Given the description of an element on the screen output the (x, y) to click on. 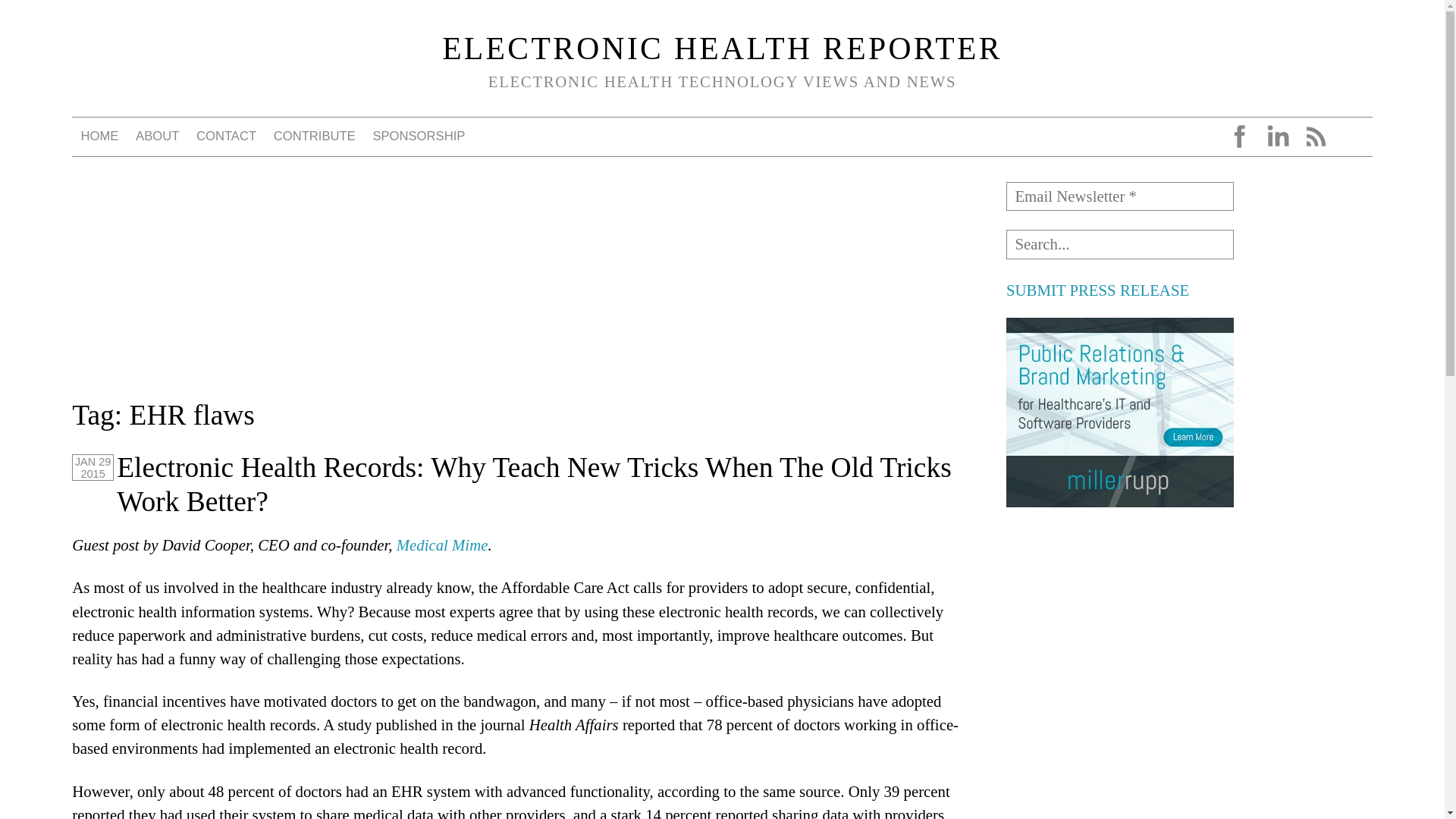
FACEBOOK (1239, 136)
LINKEDIN (1277, 136)
Advertisement (1119, 624)
Email Newsletter (1119, 195)
Subscribe (48, 16)
Medical Mime (441, 544)
Advertisement (1119, 780)
ABOUT (157, 136)
CONTRIBUTE (313, 136)
